Given the description of an element on the screen output the (x, y) to click on. 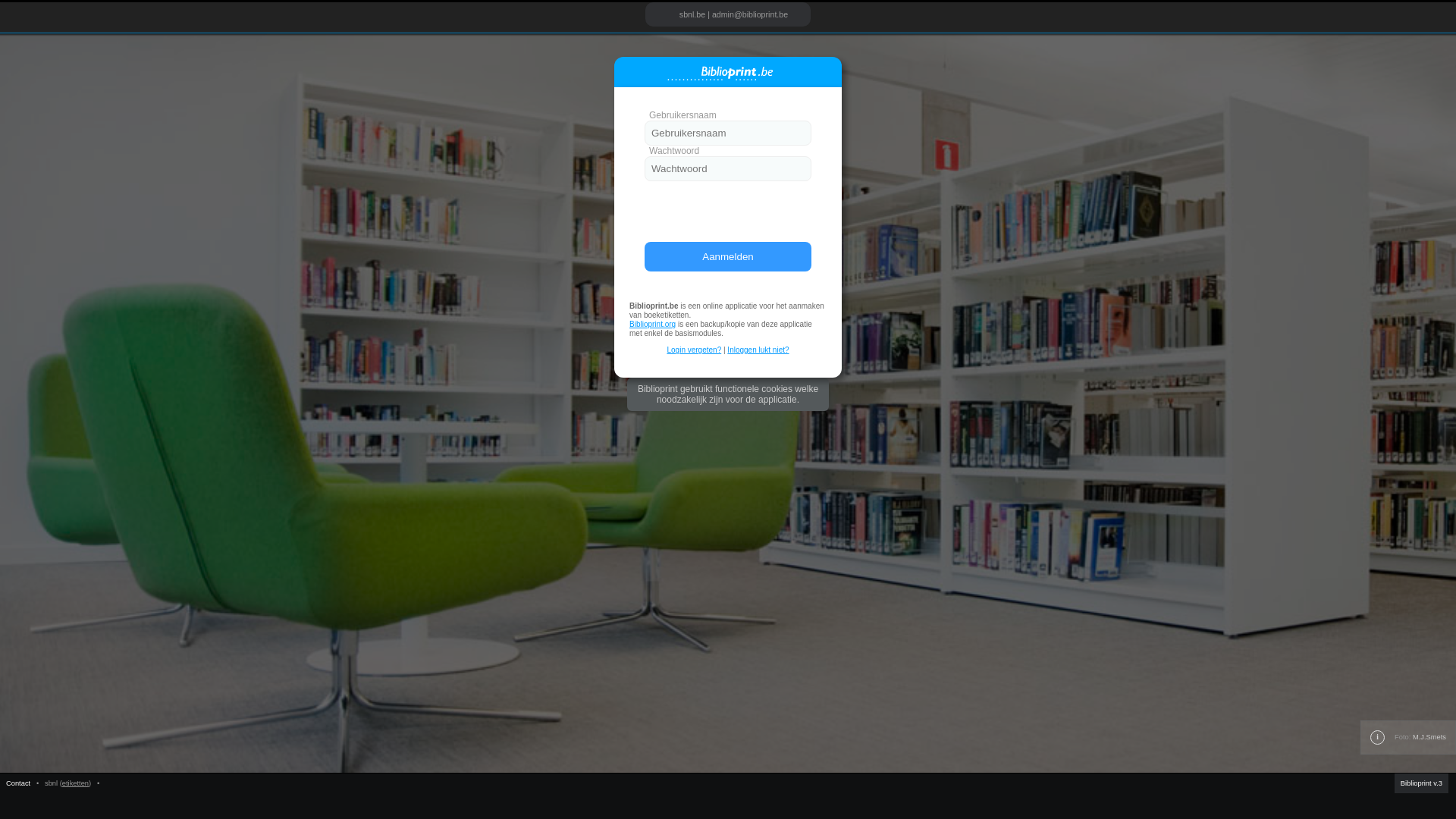
Aanmelden Element type: text (727, 256)
etiketten Element type: text (75, 783)
M.J.Smets Element type: text (1429, 736)
Biblioprint.org Element type: text (652, 324)
Inloggen lukt niet? Element type: text (757, 349)
admin@biblioprint.be Element type: text (749, 13)
sbnl.be Element type: text (692, 13)
Login vergeten? Element type: text (693, 349)
